Given the description of an element on the screen output the (x, y) to click on. 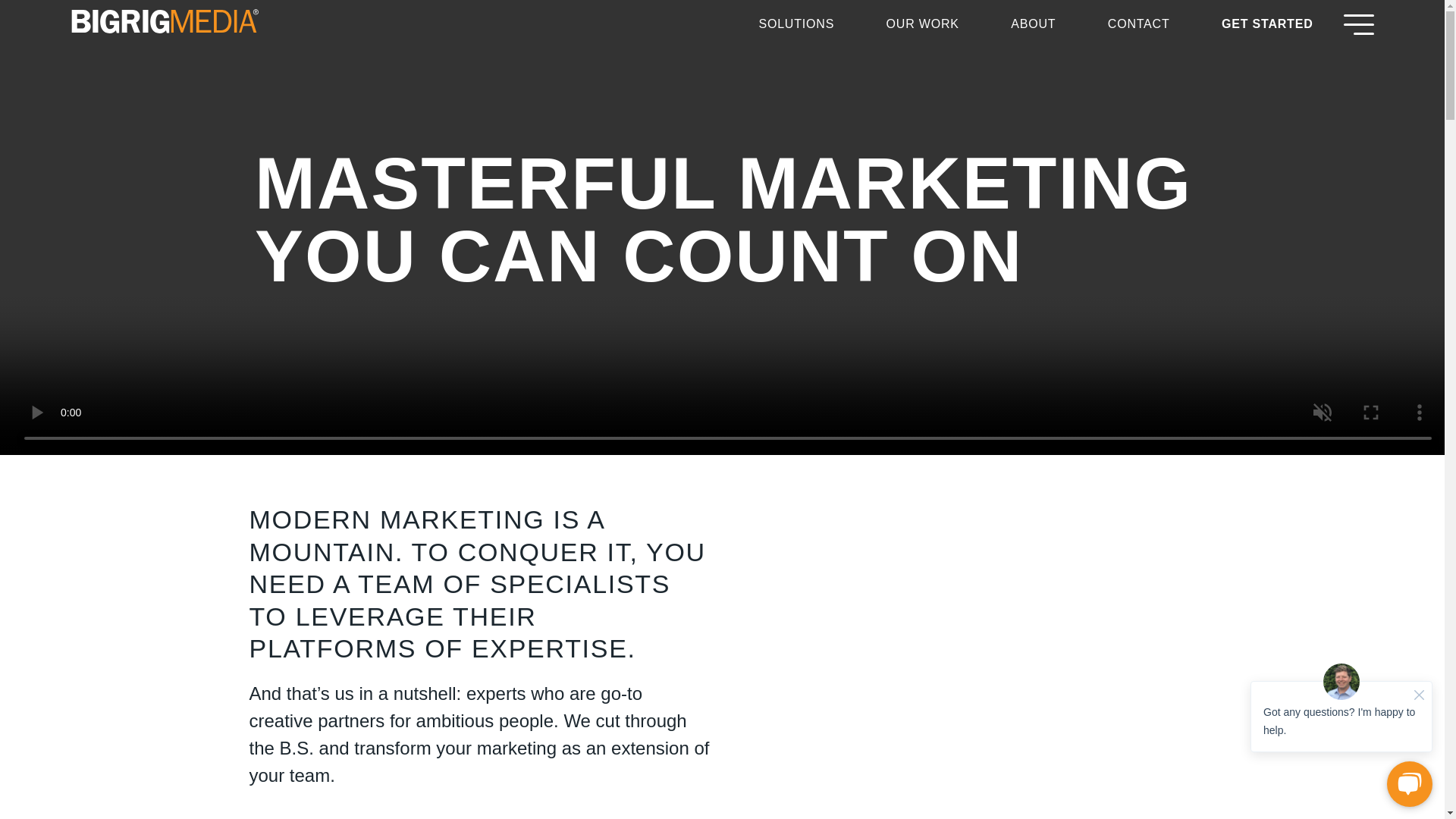
OUR WORK (922, 23)
GET STARTED (1267, 23)
CONTACT (1139, 23)
ABOUT (1032, 23)
SOLUTIONS (796, 23)
